Given the description of an element on the screen output the (x, y) to click on. 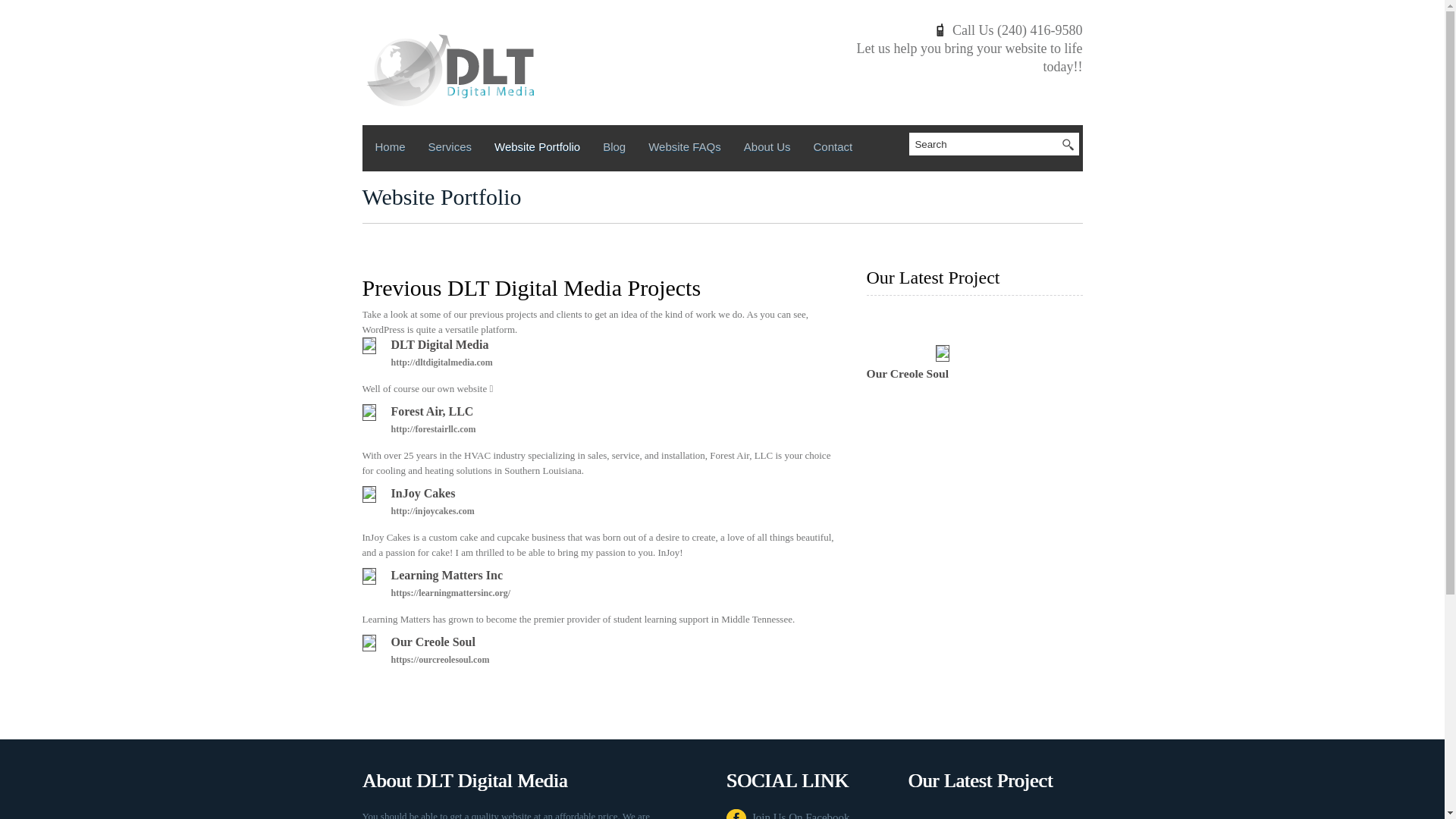
Blog (614, 149)
Contact (832, 149)
Website Portfolio (537, 149)
Home (389, 149)
InJoy Cakes (423, 492)
Learning Matters Inc (447, 574)
DLT Digital Media (440, 344)
Website FAQs (684, 149)
About Us (766, 149)
Search (986, 143)
Forest Air, LLC (432, 410)
Services (450, 149)
